Given the description of an element on the screen output the (x, y) to click on. 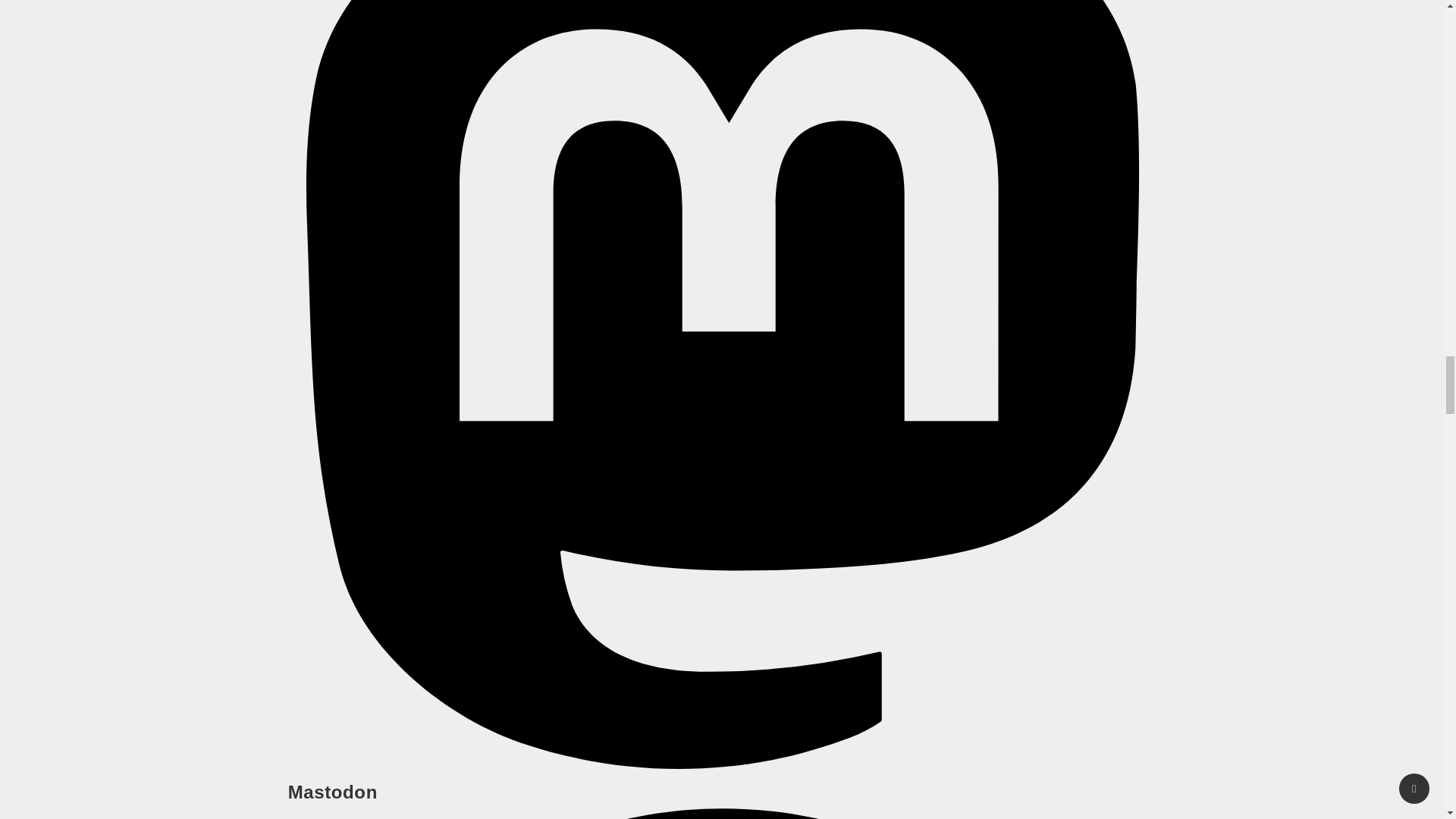
Facebook (721, 812)
